Given the description of an element on the screen output the (x, y) to click on. 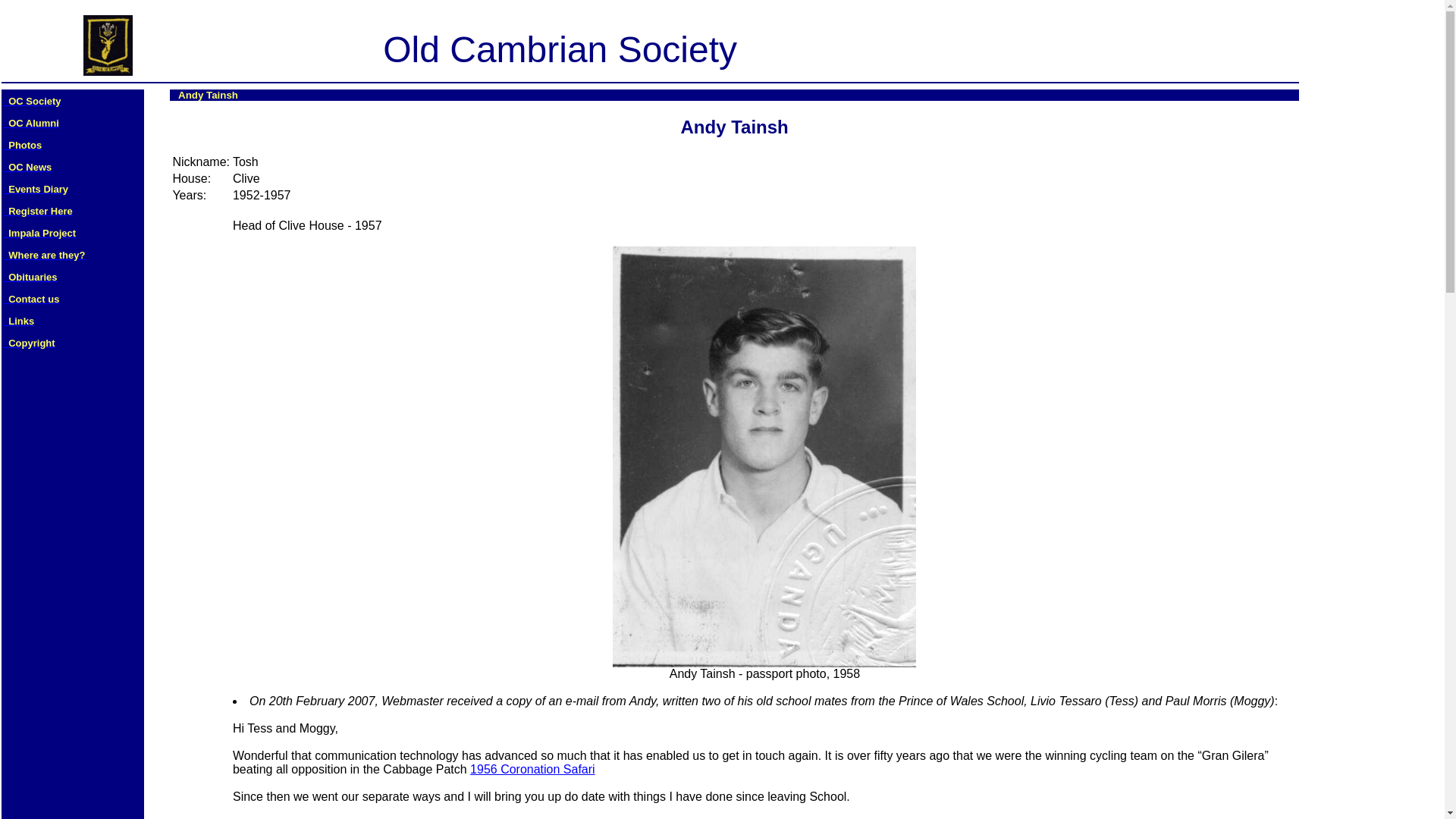
1956 Coronation Safari (532, 768)
  Impala Project (38, 232)
  Where are they? (43, 253)
  OC News (26, 164)
  Events Diary (35, 187)
  Photos (22, 144)
  Links (17, 319)
  Copyright (28, 341)
  Contact us (30, 297)
  Obituaries (30, 276)
  Register Here (37, 209)
  OC Alumni (30, 121)
  OC Society (31, 100)
